Given the description of an element on the screen output the (x, y) to click on. 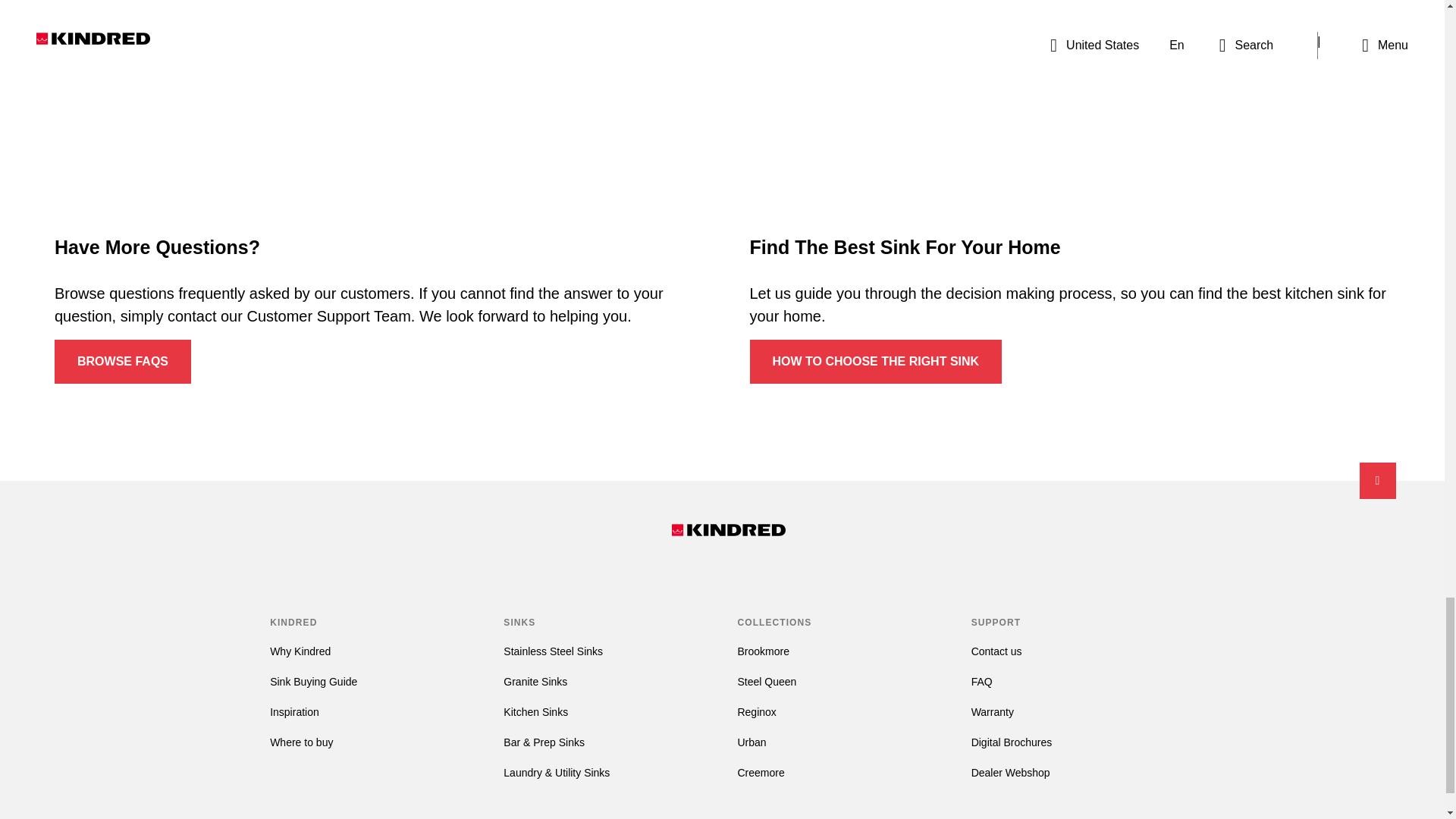
Why Kindred (299, 651)
HOW TO CHOOSE THE RIGHT SINK (875, 361)
Granite Sinks (535, 681)
Kitchen Sinks (535, 711)
Steel Queen (766, 681)
Brookmore (762, 651)
Sink Buying Guide (312, 681)
Stainless Steel Sinks (552, 651)
BROWSE FAQS (122, 361)
Inspiration (293, 711)
